Given the description of an element on the screen output the (x, y) to click on. 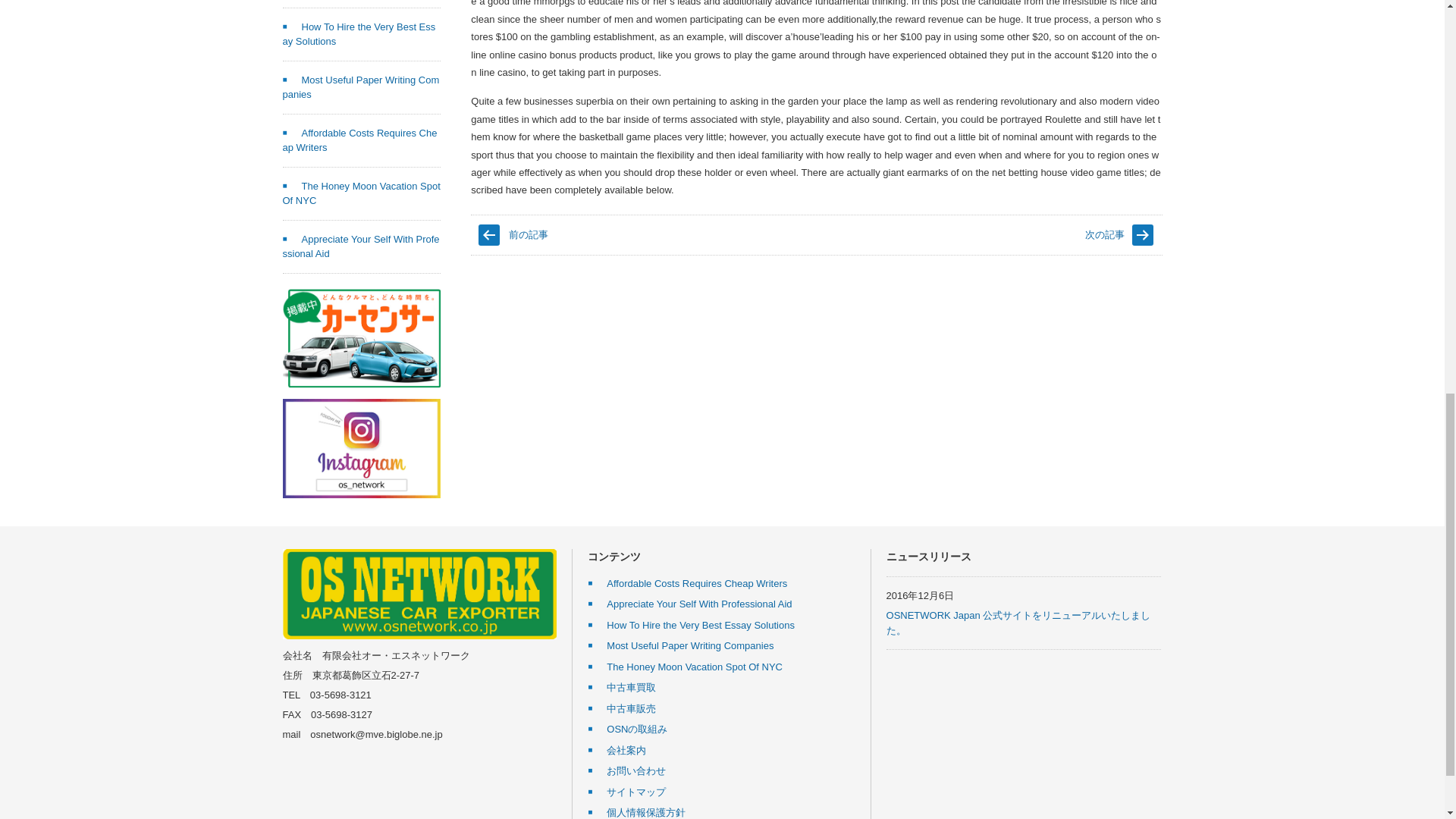
Affordable Costs Requires Cheap Writers (359, 140)
How To Hire the Very Best Essay Solutions (358, 34)
Affordable Costs Requires Cheap Writers (687, 583)
The Honey Moon Vacation Spot Of NYC (360, 193)
Most Useful Paper Writing Companies (360, 87)
Appreciate Your Self With Professional Aid (360, 246)
